Given the description of an element on the screen output the (x, y) to click on. 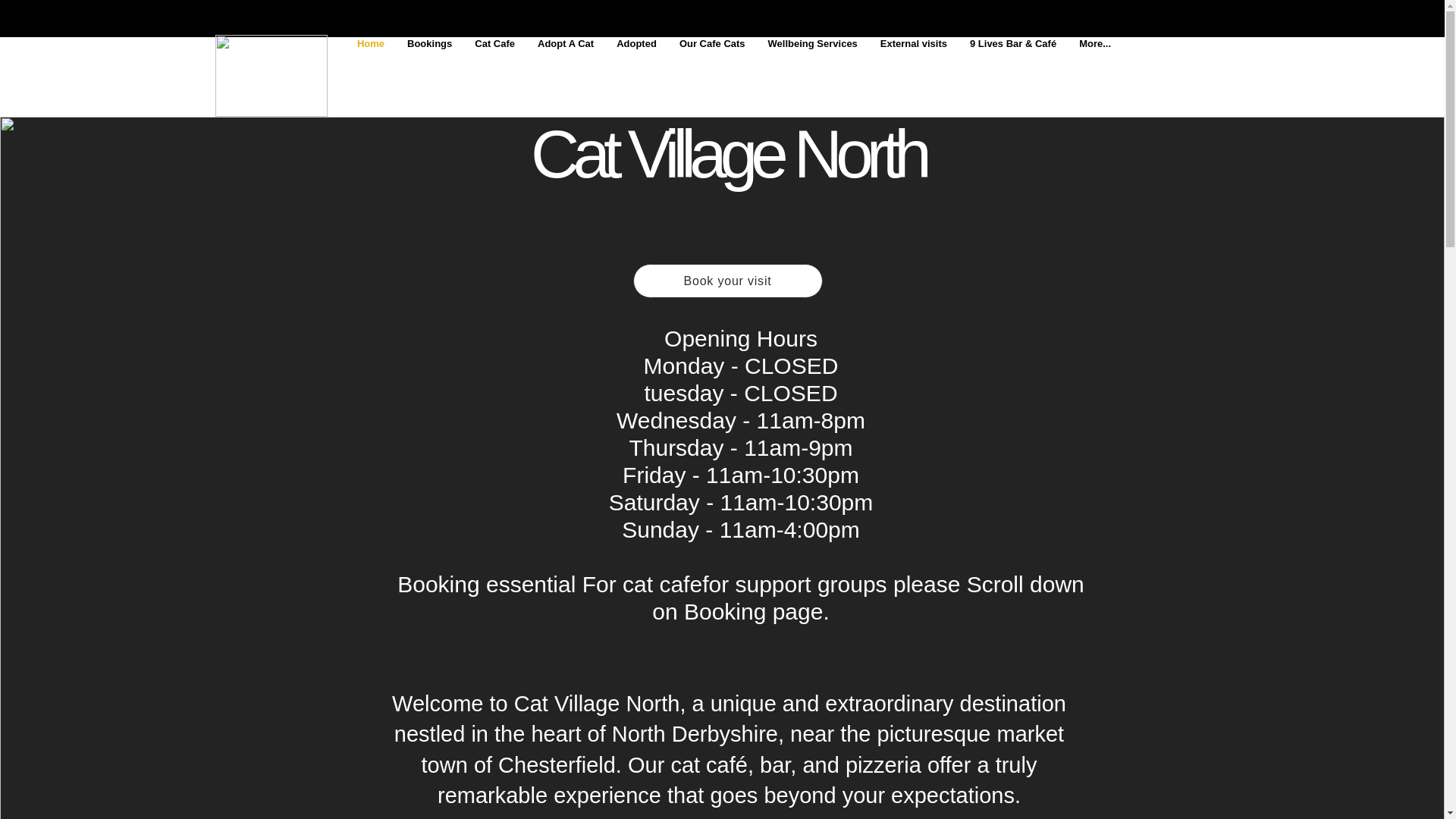
Our Cafe Cats (712, 60)
Book your visit (726, 280)
External visits (913, 60)
Home (371, 60)
Bookings (429, 60)
Cat Cafe (494, 60)
Wellbeing Services (813, 60)
Adopted (636, 60)
Adopt A Cat (565, 60)
